Given the description of an element on the screen output the (x, y) to click on. 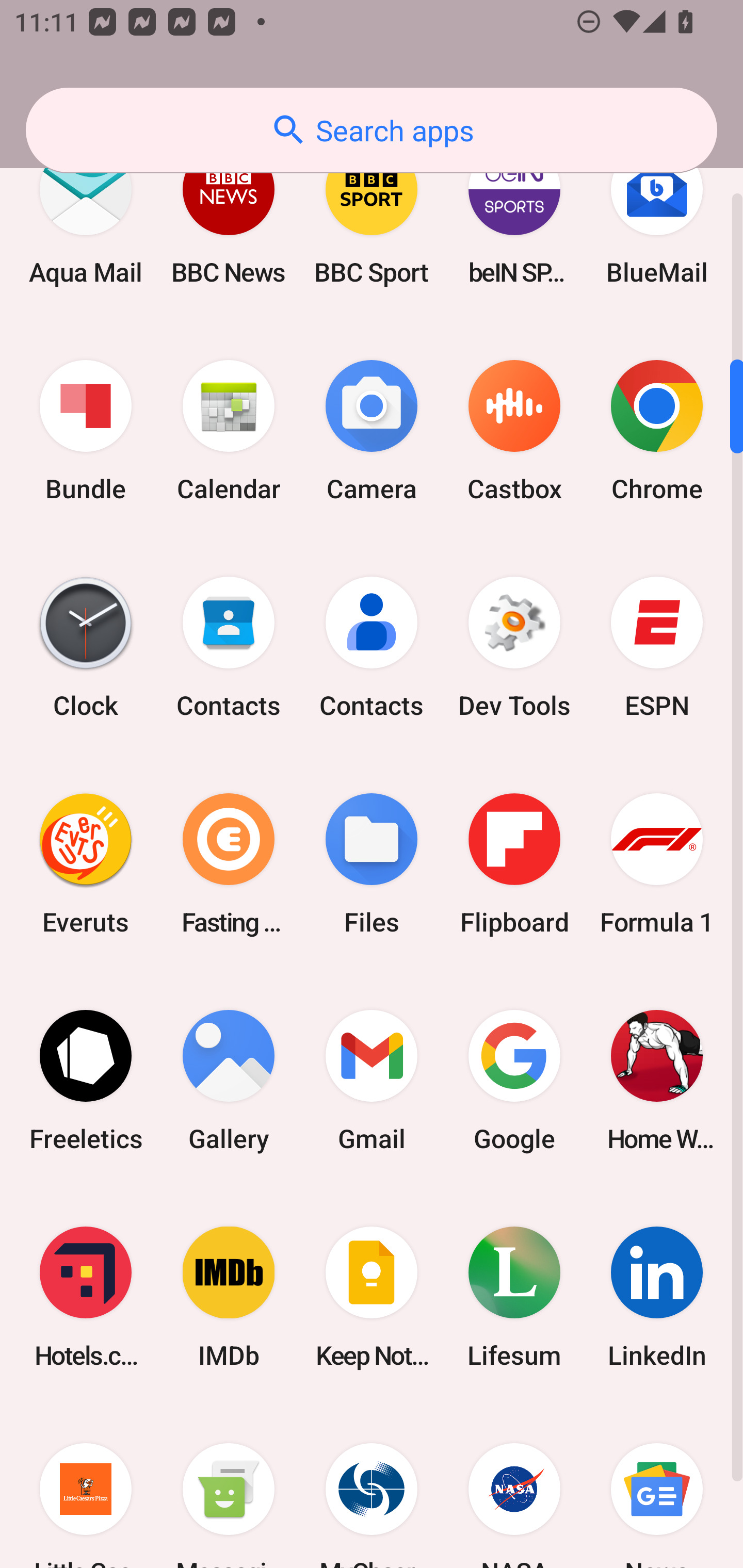
  Search apps (371, 130)
Aqua Mail (85, 214)
BBC News (228, 214)
BBC Sport (371, 214)
beIN SPORTS (514, 214)
BlueMail (656, 214)
Bundle (85, 431)
Calendar (228, 431)
Camera (371, 431)
Castbox (514, 431)
Chrome (656, 431)
Clock (85, 647)
Contacts (228, 647)
Contacts (371, 647)
Dev Tools (514, 647)
ESPN (656, 647)
Everuts (85, 863)
Fasting Coach (228, 863)
Files (371, 863)
Flipboard (514, 863)
Formula 1 (656, 863)
Freeletics (85, 1080)
Gallery (228, 1080)
Gmail (371, 1080)
Google (514, 1080)
Home Workout (656, 1080)
Hotels.com (85, 1296)
IMDb (228, 1296)
Keep Notes (371, 1296)
Lifesum (514, 1296)
LinkedIn (656, 1296)
Little Caesars Pizza (85, 1486)
Messaging (228, 1486)
MyObservatory (371, 1486)
NASA (514, 1486)
News (656, 1486)
